Given the description of an element on the screen output the (x, y) to click on. 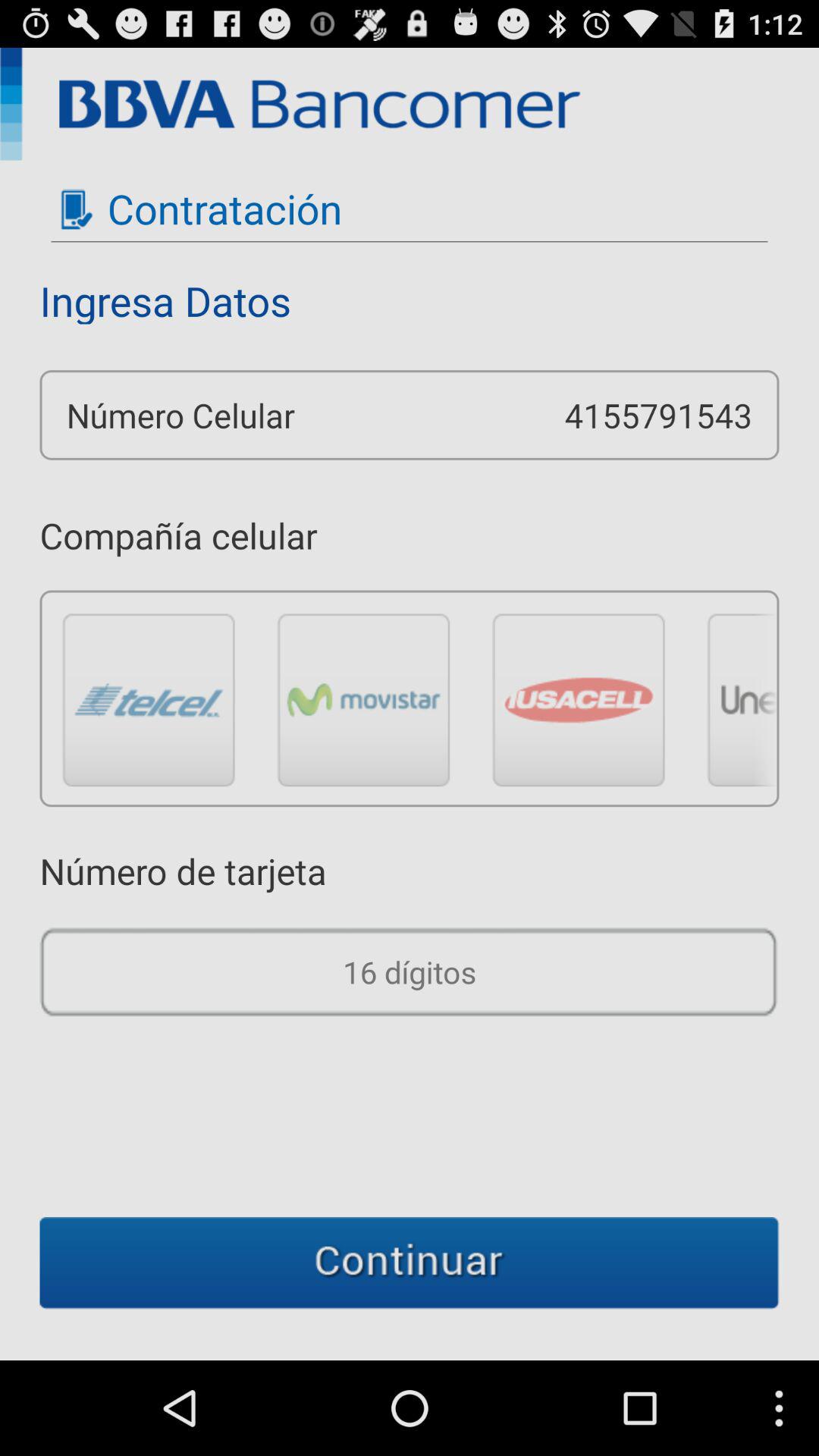
telcel button (148, 699)
